Given the description of an element on the screen output the (x, y) to click on. 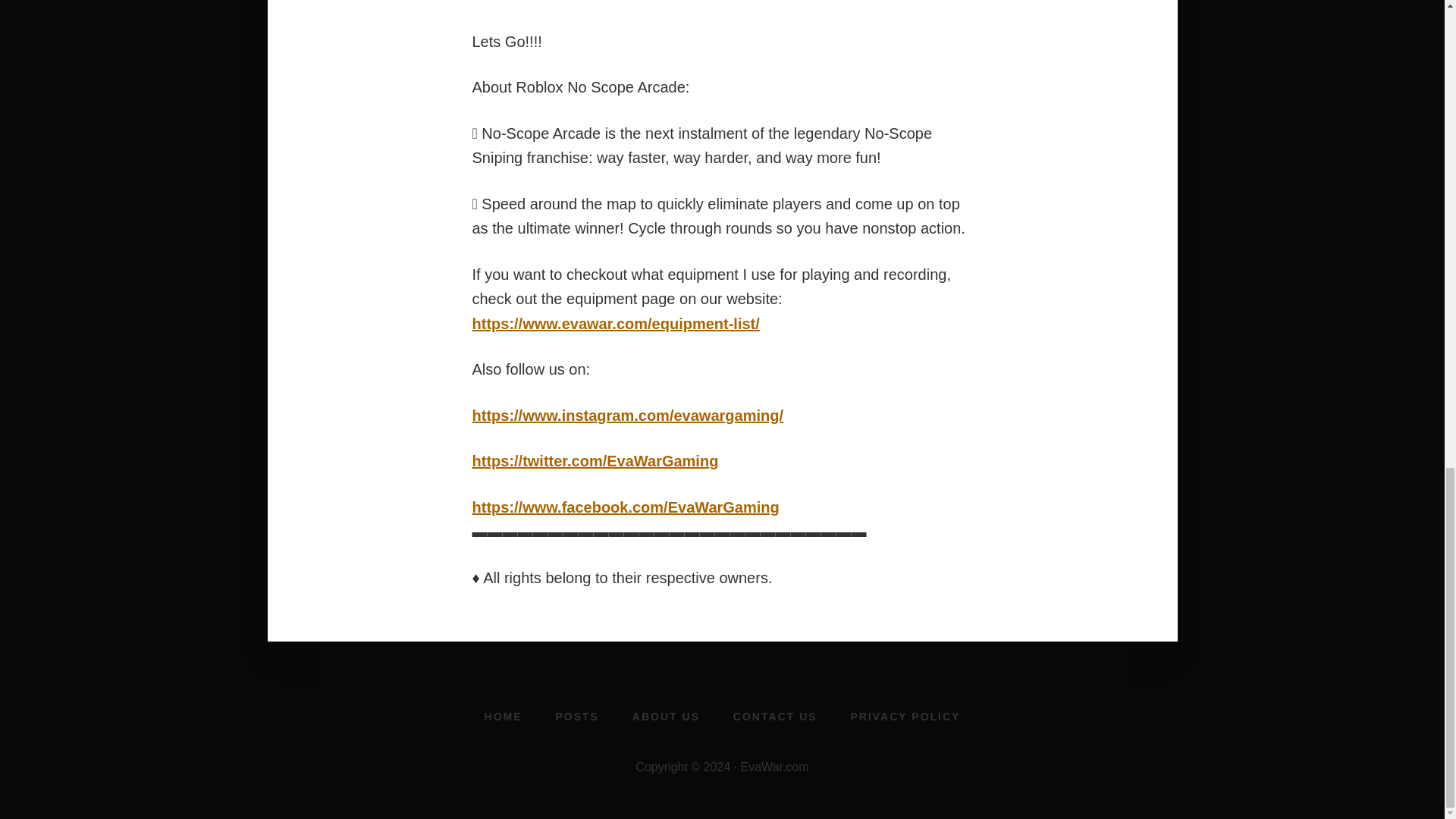
PRIVACY POLICY (904, 716)
POSTS (576, 716)
HOME (502, 716)
CONTACT US (774, 716)
Roblox No Scope Arcade Gameplay - 100 Wins Montage!!! (721, 14)
ABOUT US (665, 716)
